Given the description of an element on the screen output the (x, y) to click on. 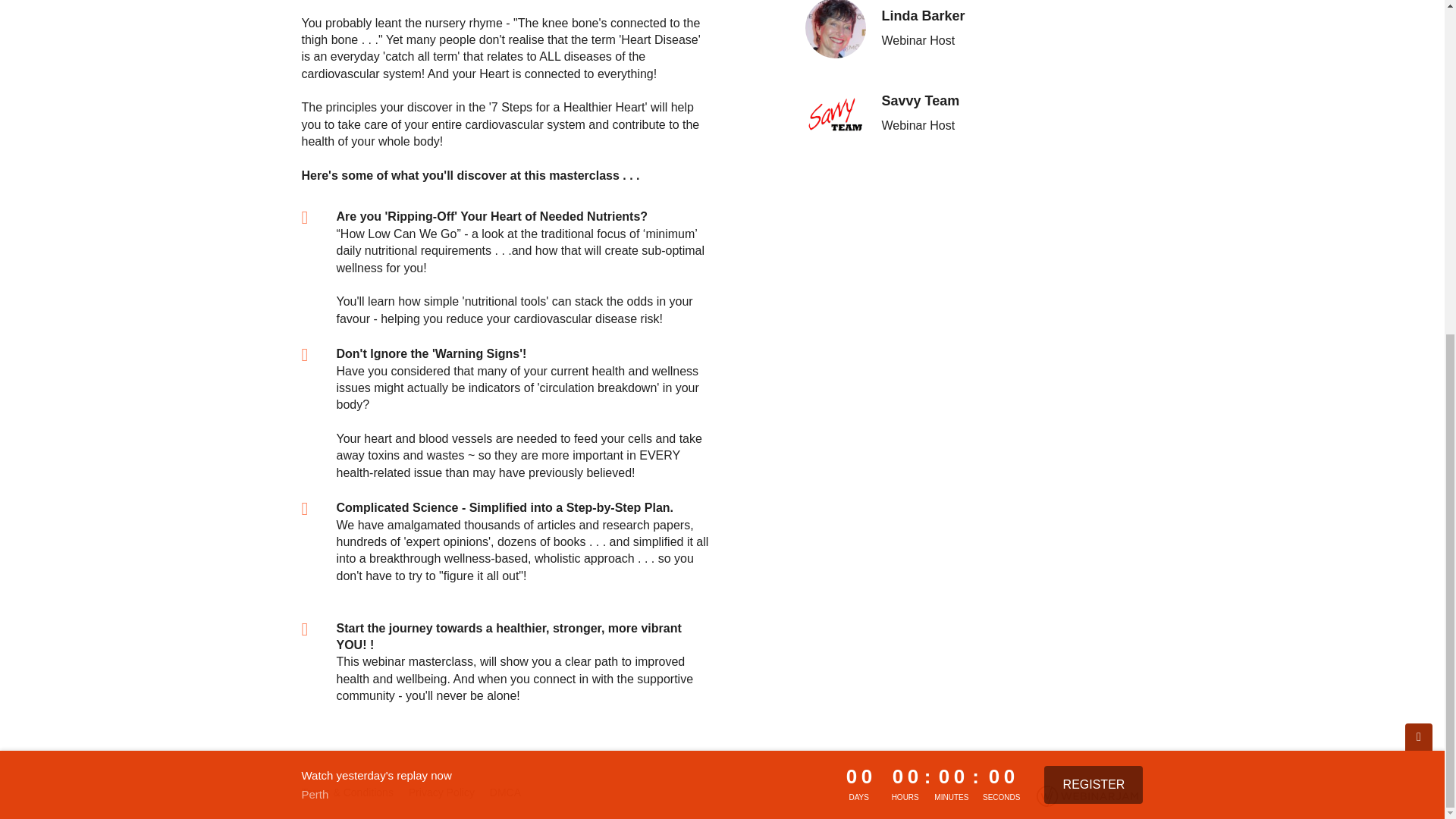
DMCA (505, 792)
Privacy Policy (441, 792)
Linda Barker (835, 29)
Savvy Team (835, 112)
REGISTER (1092, 226)
